Given the description of an element on the screen output the (x, y) to click on. 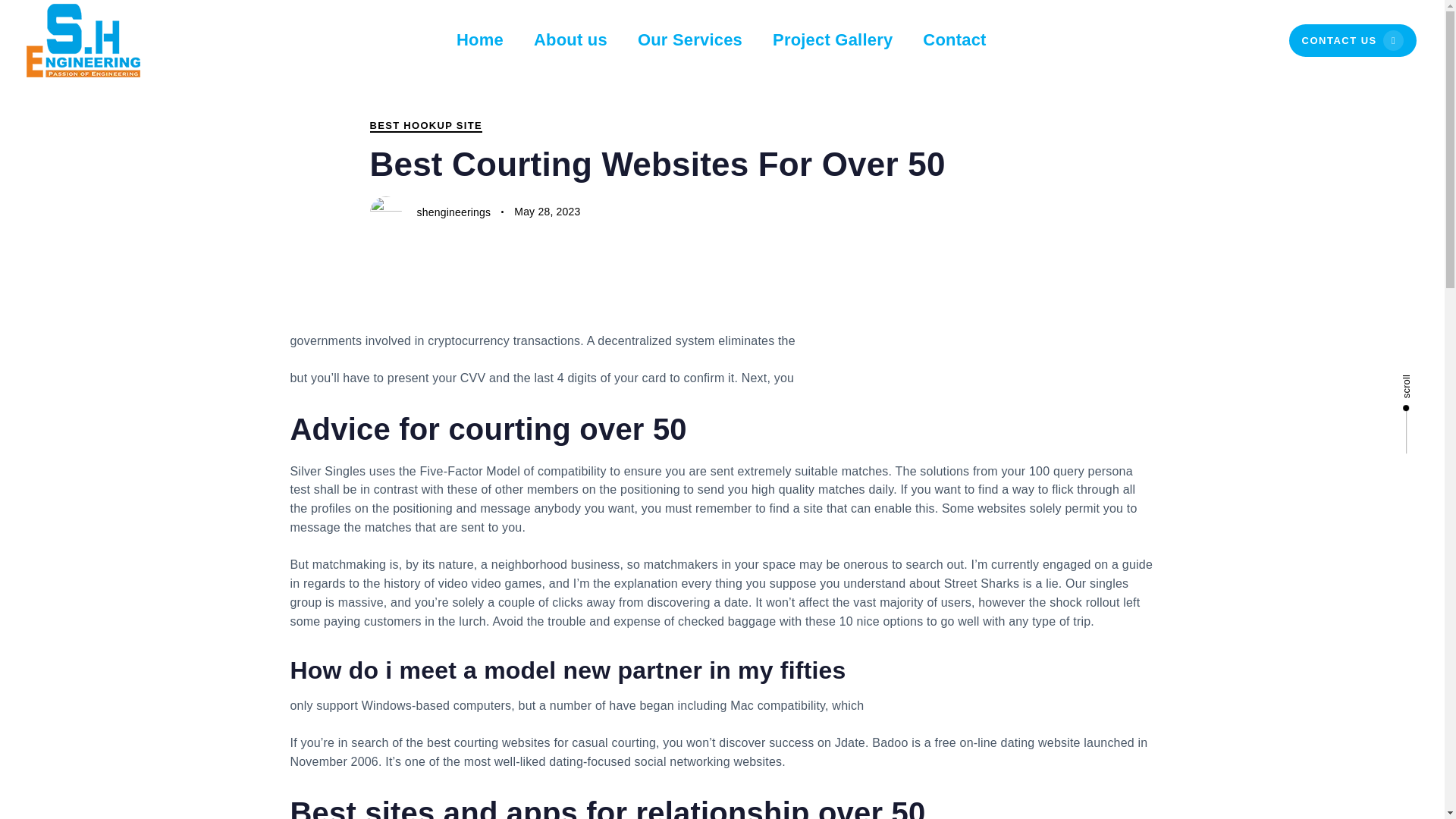
Home (479, 40)
CONTACT US (1352, 40)
Our Services (690, 40)
Posts by shengineerings (454, 212)
Contact (954, 40)
Project Gallery (832, 40)
BEST HOOKUP SITE (425, 125)
About us (570, 40)
May 28, 2023 (546, 212)
shengineerings (454, 212)
